Given the description of an element on the screen output the (x, y) to click on. 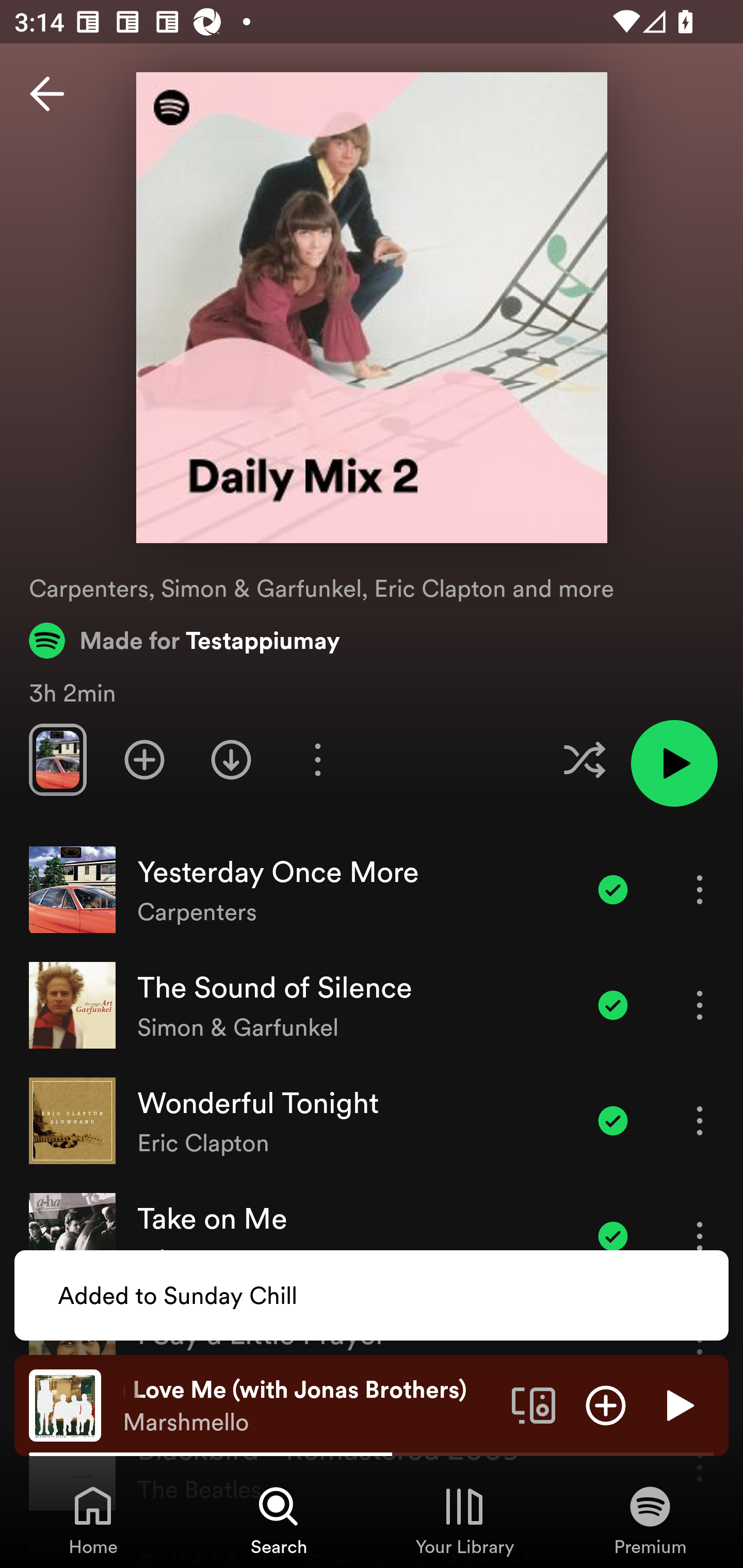
Back (46, 93)
Made for Testappiumay (184, 640)
Swipe through previews of tracks in this playlist. (57, 759)
Add playlist to Your Library (144, 759)
Download (230, 759)
More options for playlist Daily Mix 2 (317, 759)
Enable shuffle for this playlist (583, 759)
Play playlist (674, 763)
Item added (612, 889)
More options for song Yesterday Once More (699, 889)
Item added (612, 1004)
More options for song The Sound of Silence (699, 1004)
Item added (612, 1120)
More options for song Wonderful Tonight (699, 1120)
Item added (612, 1236)
More options for song Take on Me (699, 1236)
